Given the description of an element on the screen output the (x, y) to click on. 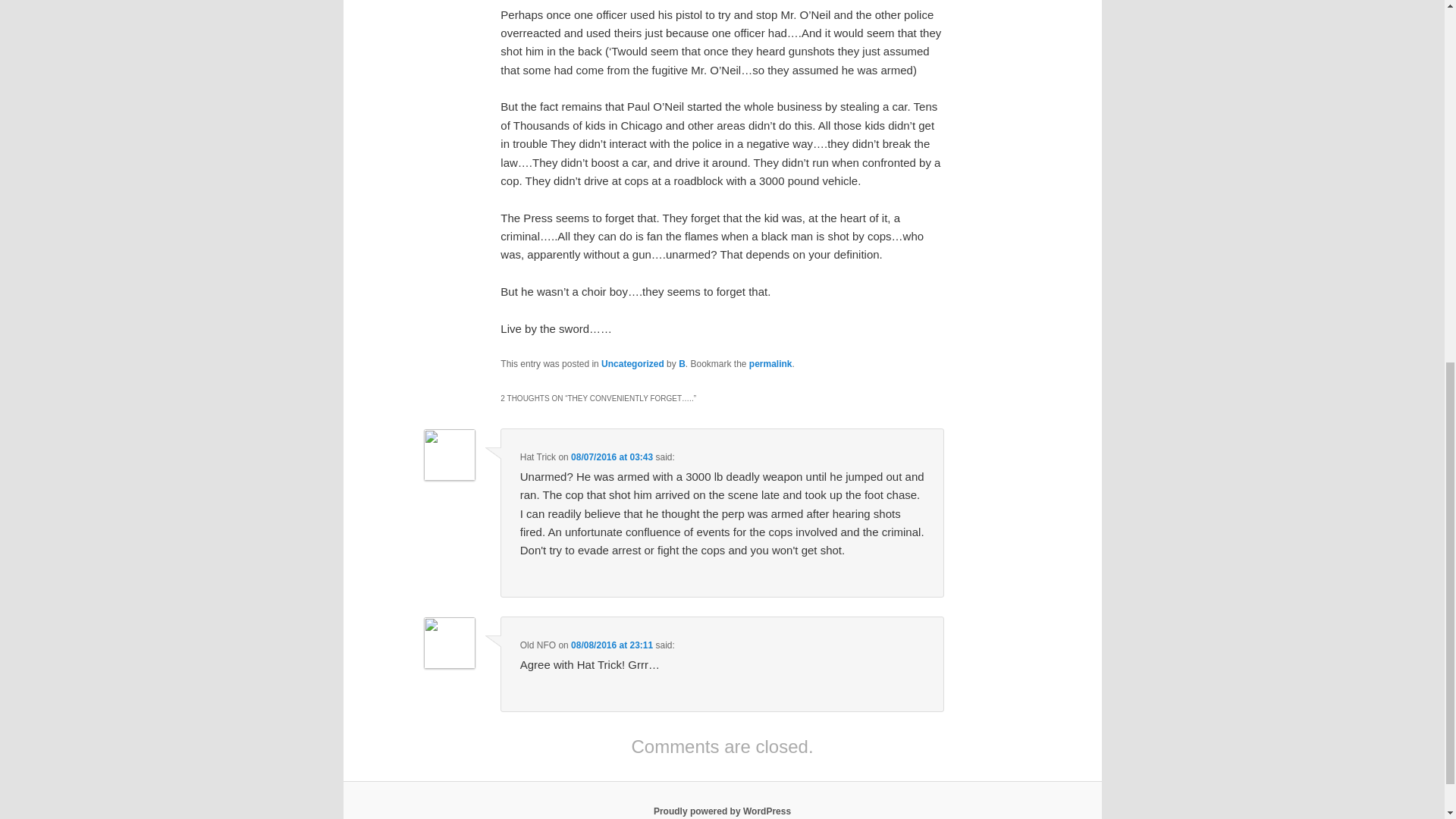
Uncategorized (632, 363)
Proudly powered by WordPress (721, 810)
permalink (770, 363)
Semantic Personal Publishing Platform (721, 810)
B (681, 363)
